Given the description of an element on the screen output the (x, y) to click on. 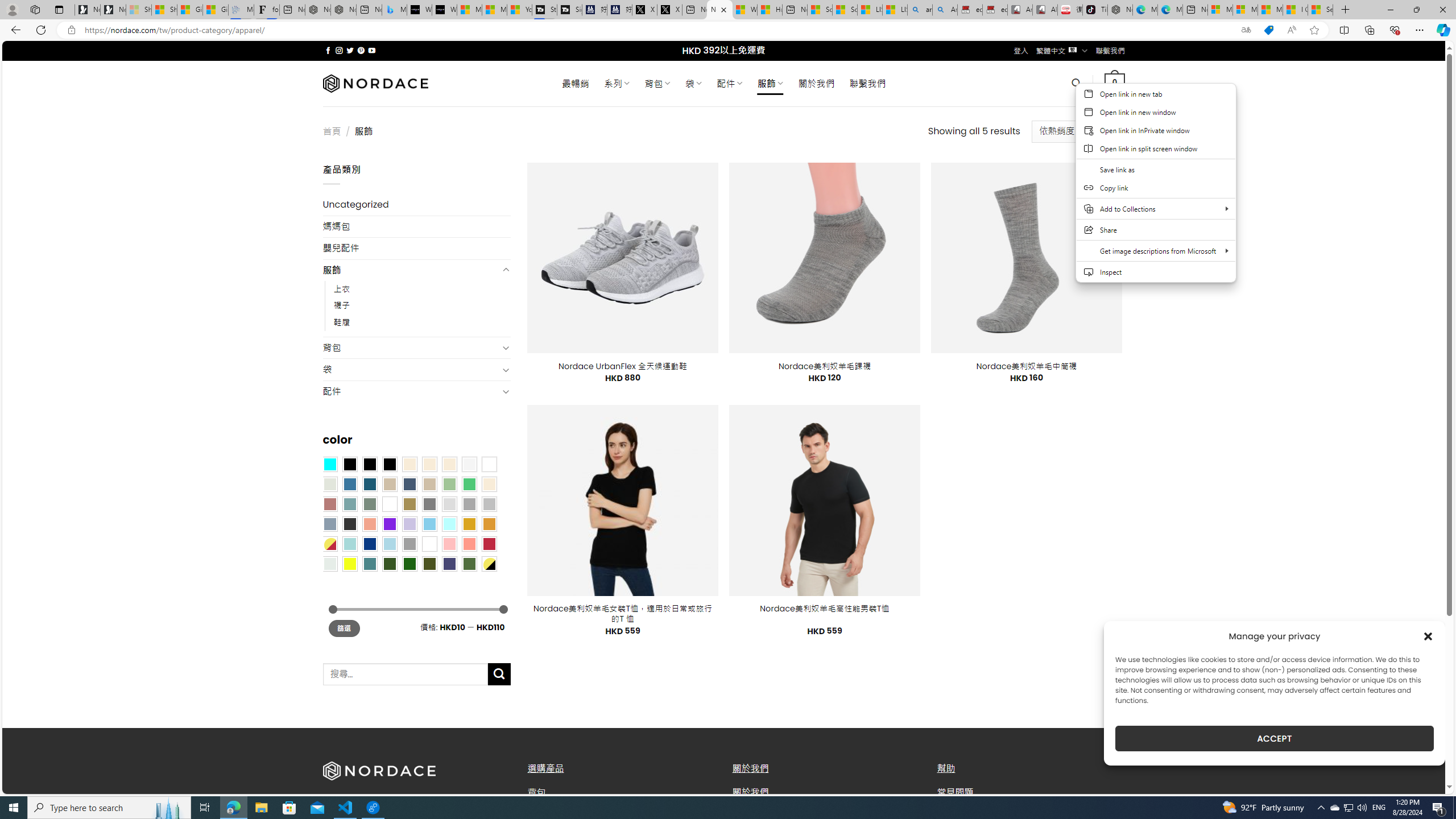
Follow on Pinterest (360, 50)
Share (1155, 229)
Open link in split screen window (1155, 148)
  0   (1115, 83)
Go to top (1421, 777)
